Given the description of an element on the screen output the (x, y) to click on. 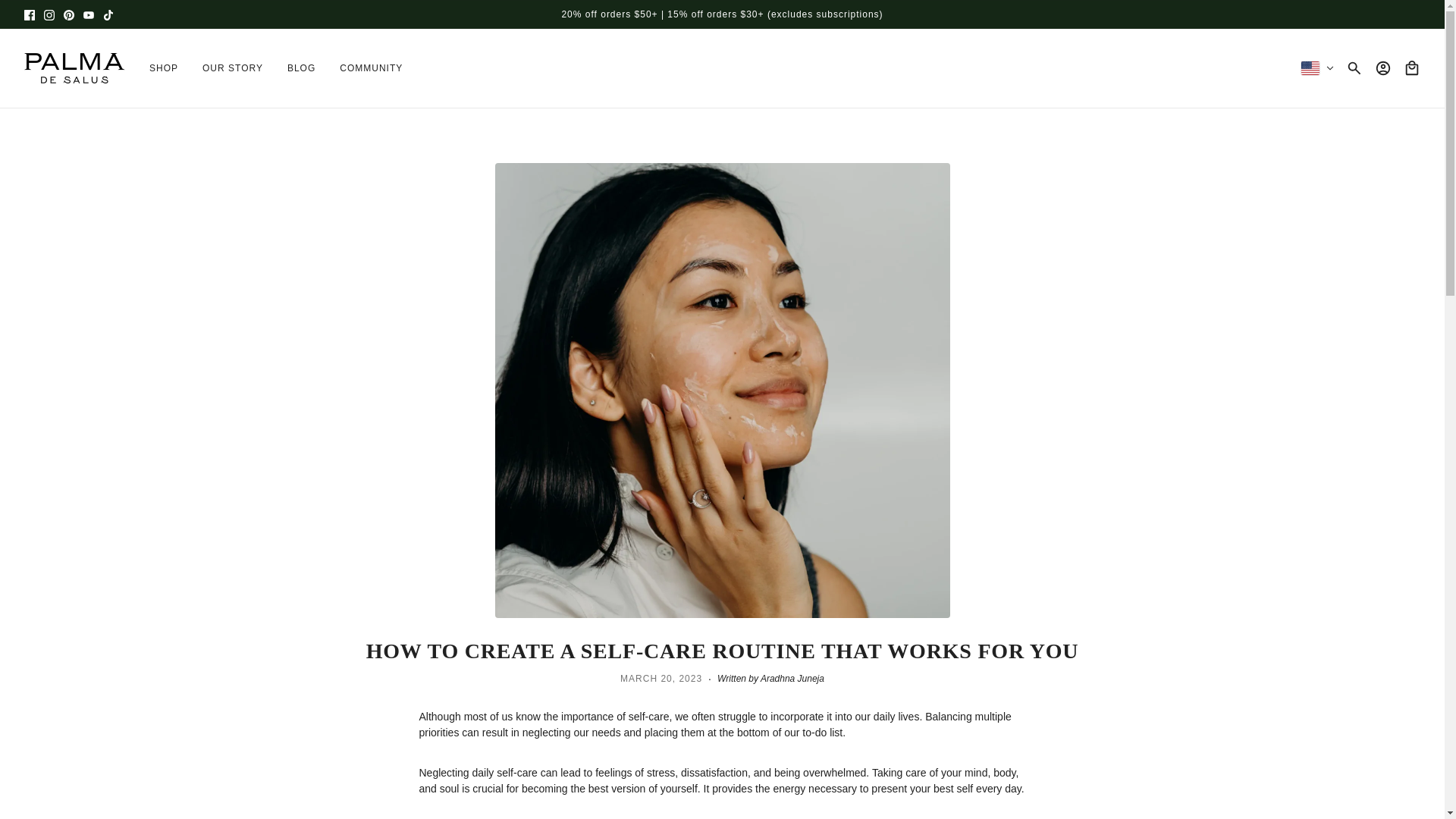
OUR STORY (232, 67)
Palma de Salus (74, 68)
COMMUNITY (370, 67)
